Given the description of an element on the screen output the (x, y) to click on. 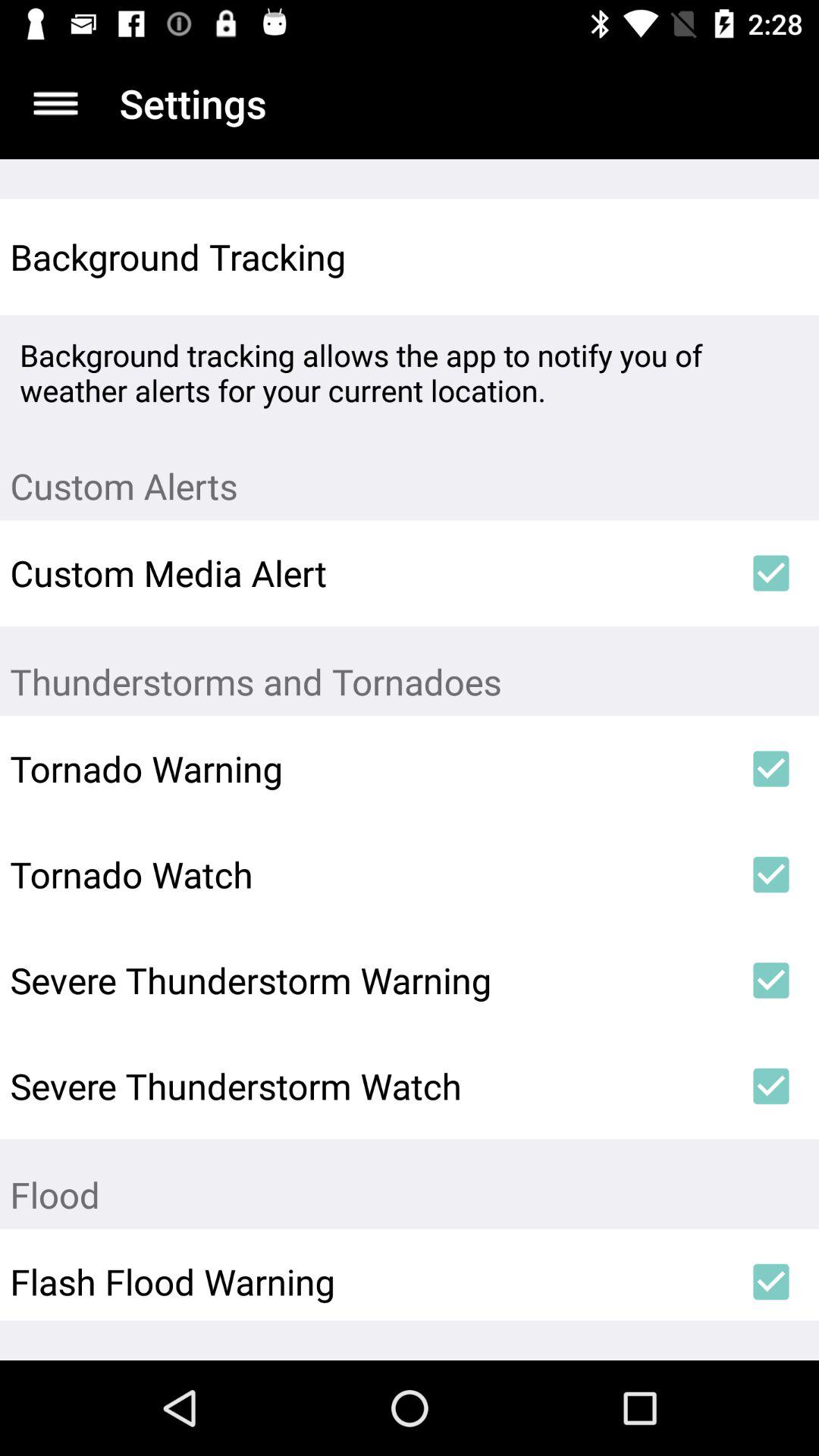
press item below the custom alerts (771, 573)
